Given the description of an element on the screen output the (x, y) to click on. 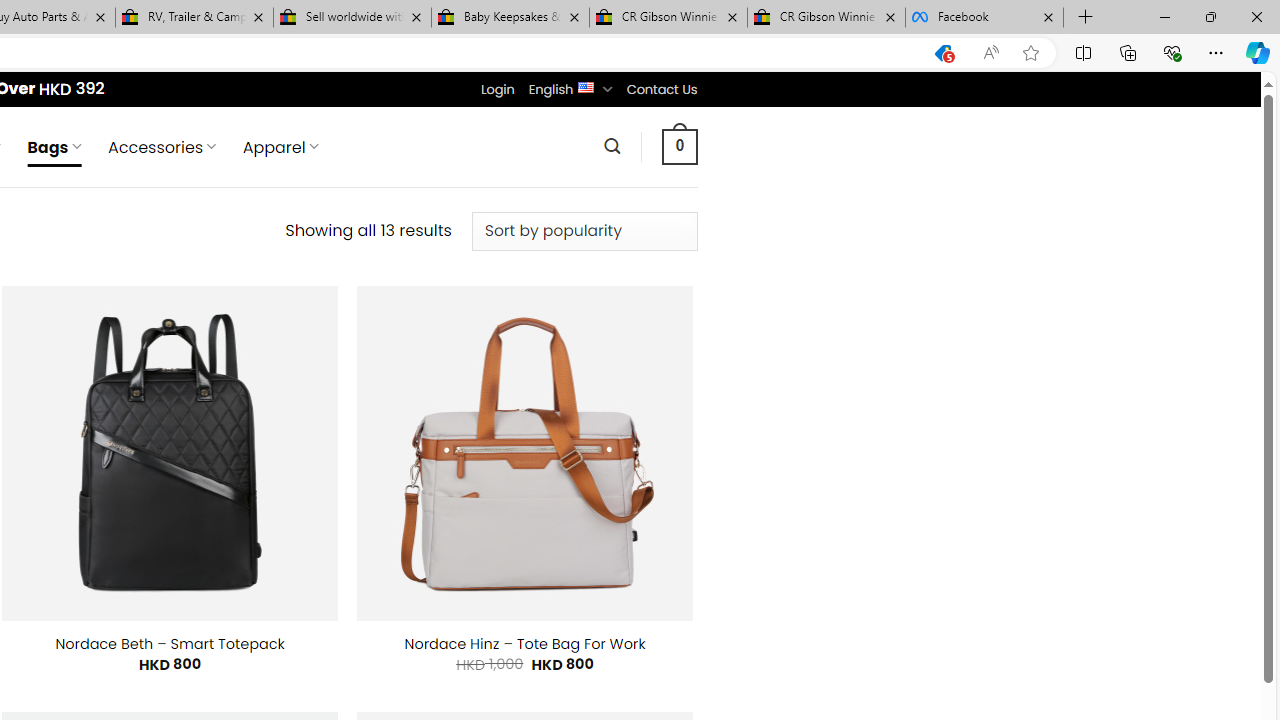
Facebook (984, 17)
RV, Trailer & Camper Steps & Ladders for sale | eBay (194, 17)
 0  (679, 146)
Shop order (584, 231)
Login (497, 89)
